Given the description of an element on the screen output the (x, y) to click on. 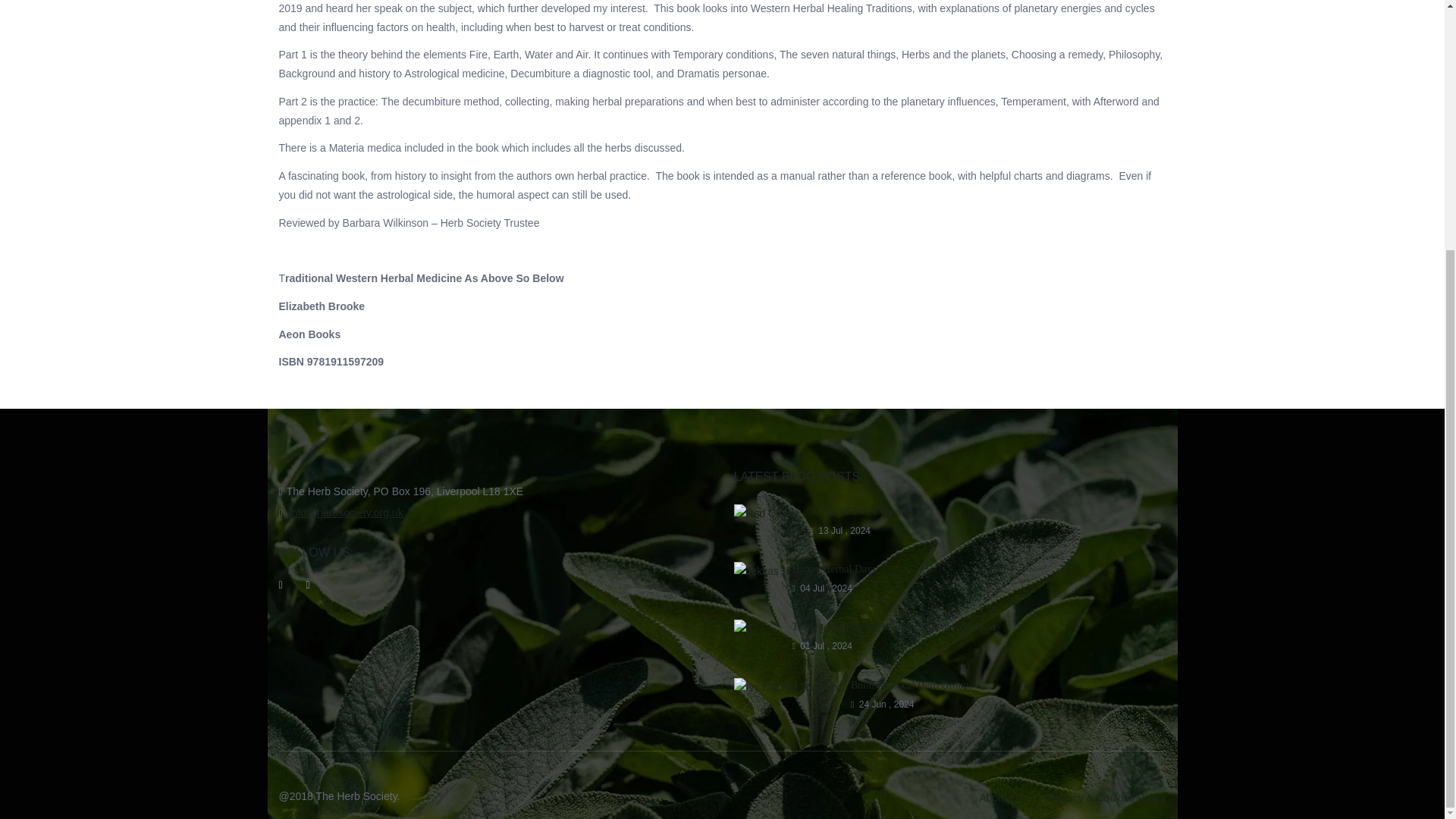
Red Clover (766, 513)
S (756, 628)
Ivy Leaved Toadflax (786, 687)
Jekkas (756, 570)
